Given the description of an element on the screen output the (x, y) to click on. 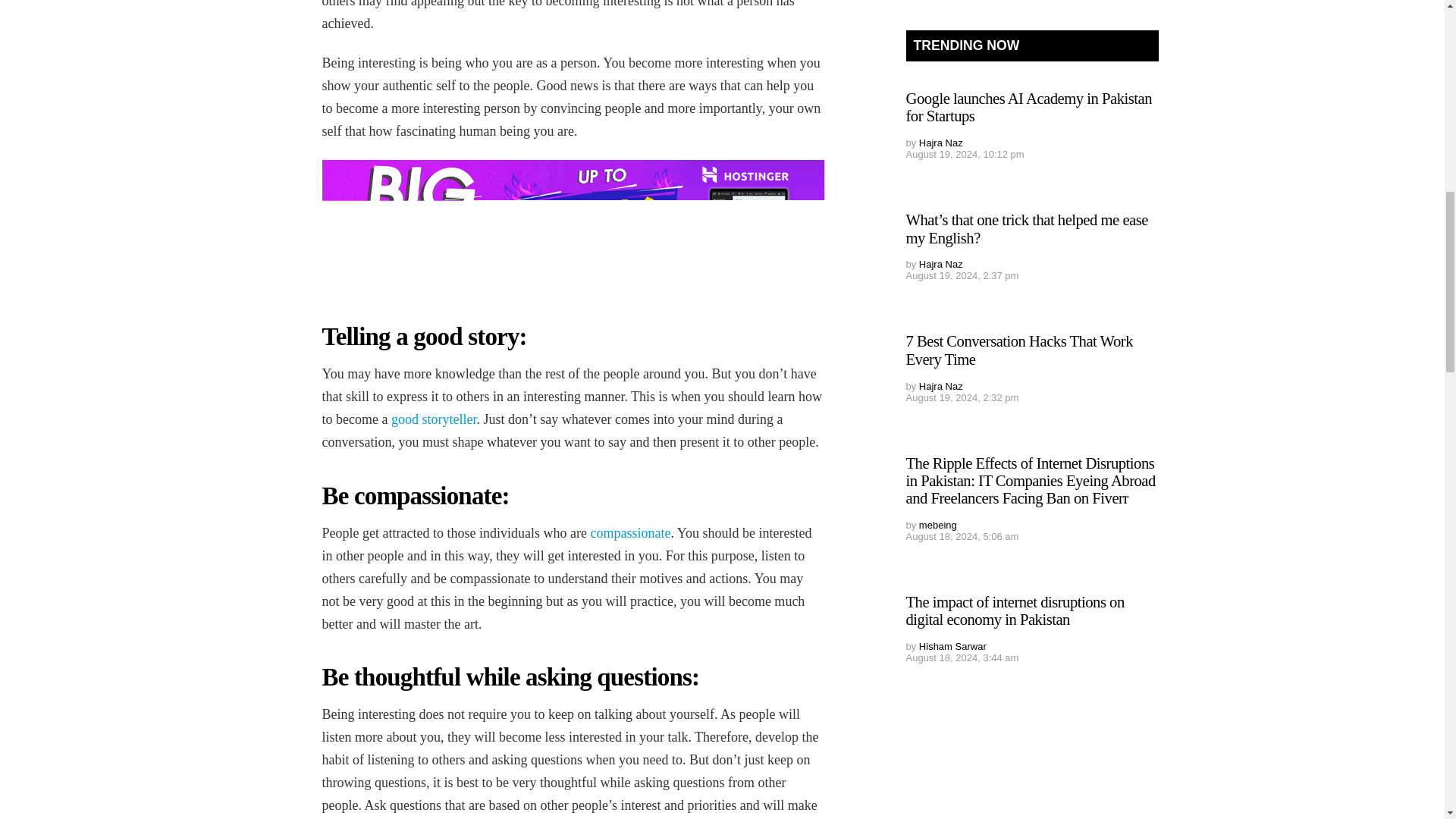
Want a Free Website (572, 223)
Posts by Hajra Naz (940, 142)
Posts by Hajra Naz (940, 386)
Posts by Hajra Naz (940, 264)
Posts by Hisham Sarwar (952, 645)
Posts by mebeing (937, 524)
